Given the description of an element on the screen output the (x, y) to click on. 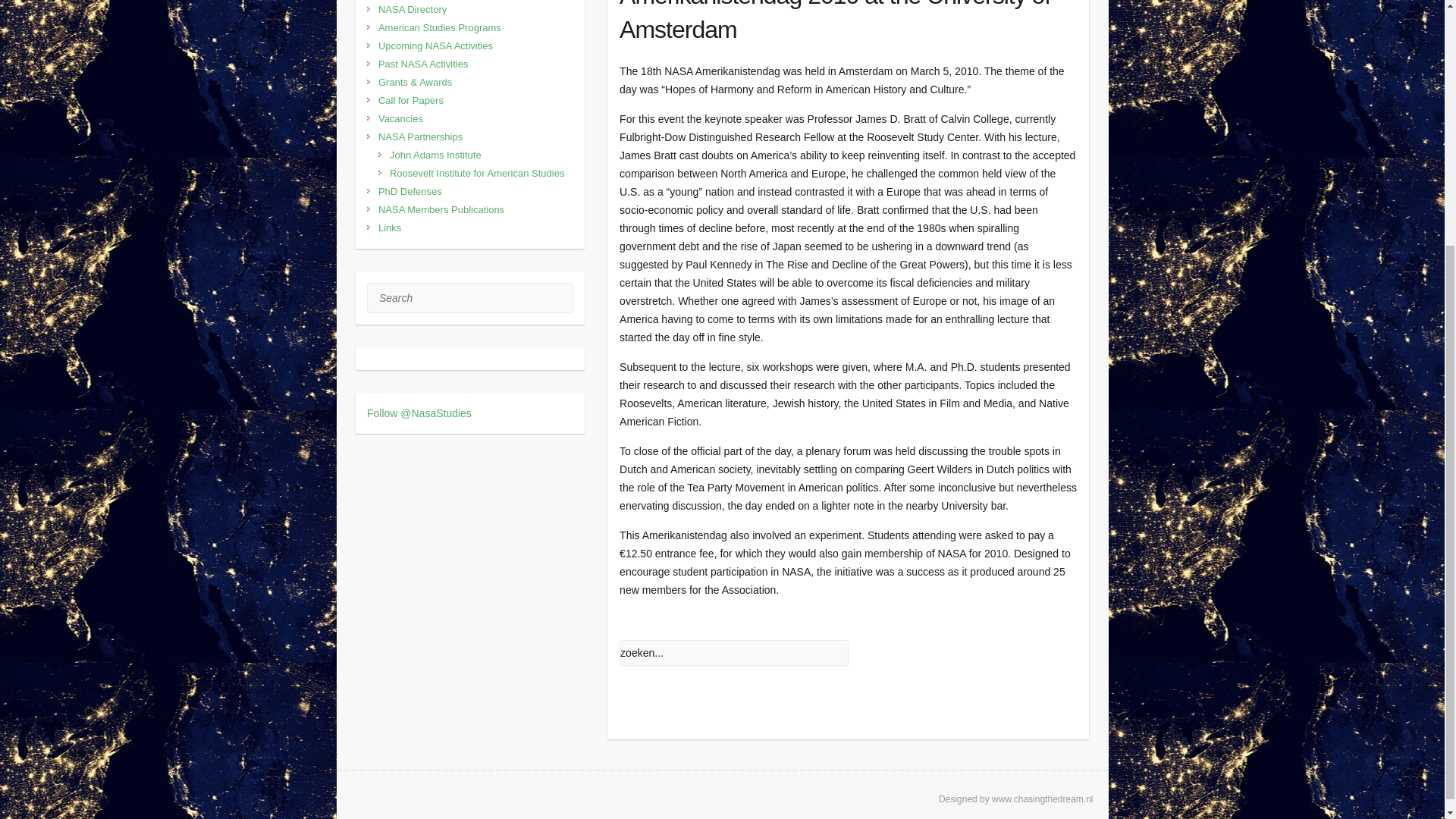
NASA Directory (412, 9)
Upcoming NASA Activities (435, 45)
NASA Members Publications (440, 209)
PhD Defenses (410, 191)
American Studies Programs (439, 27)
zoeken... (734, 652)
Vacancies (400, 118)
Links (389, 227)
John Adams Institute (435, 154)
NASA Partnerships (420, 136)
